Given the description of an element on the screen output the (x, y) to click on. 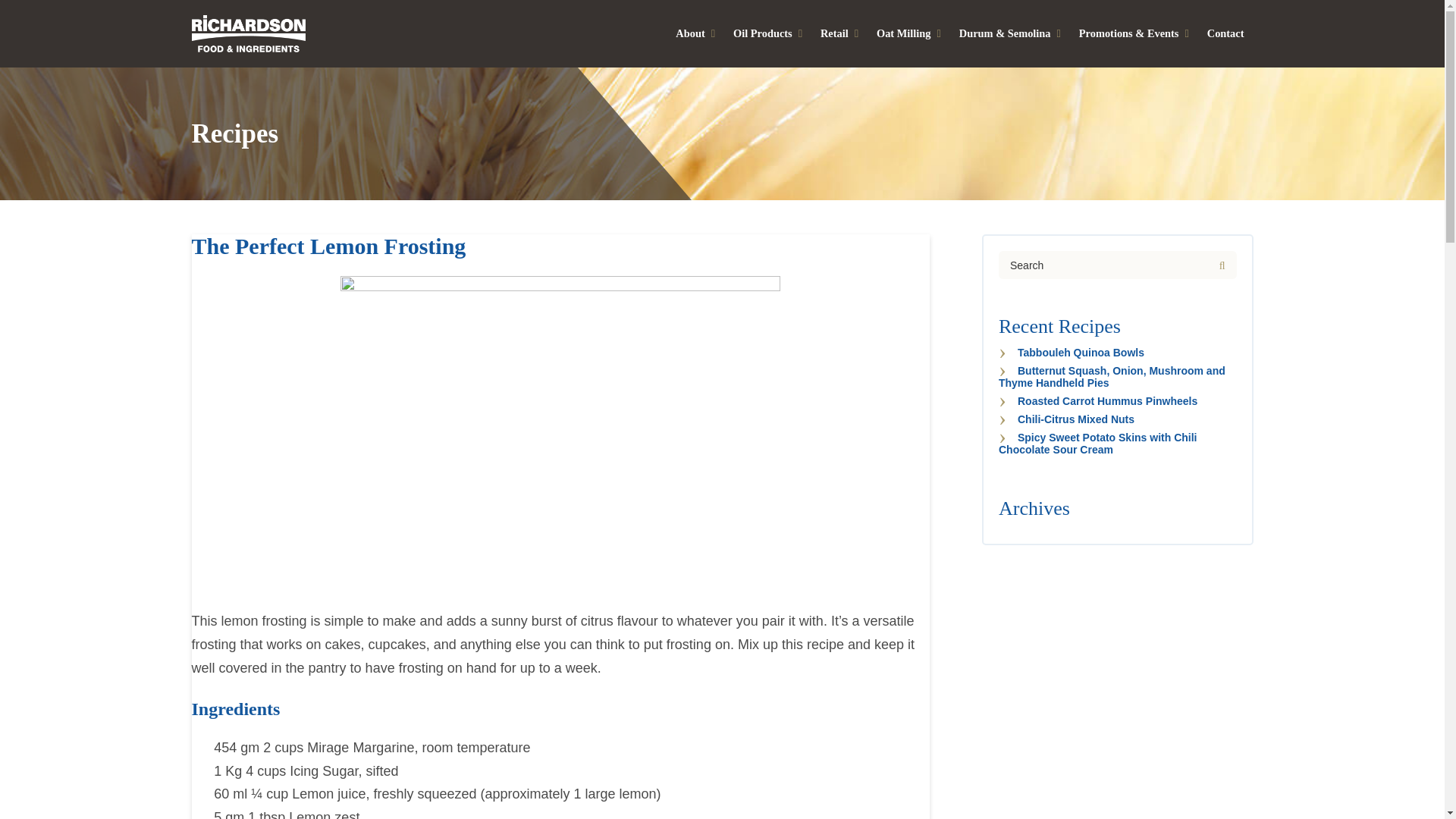
Oil Products (766, 32)
Lemon Frosting (560, 421)
About (694, 32)
Retail (838, 32)
Oat Milling (908, 32)
